Given the description of an element on the screen output the (x, y) to click on. 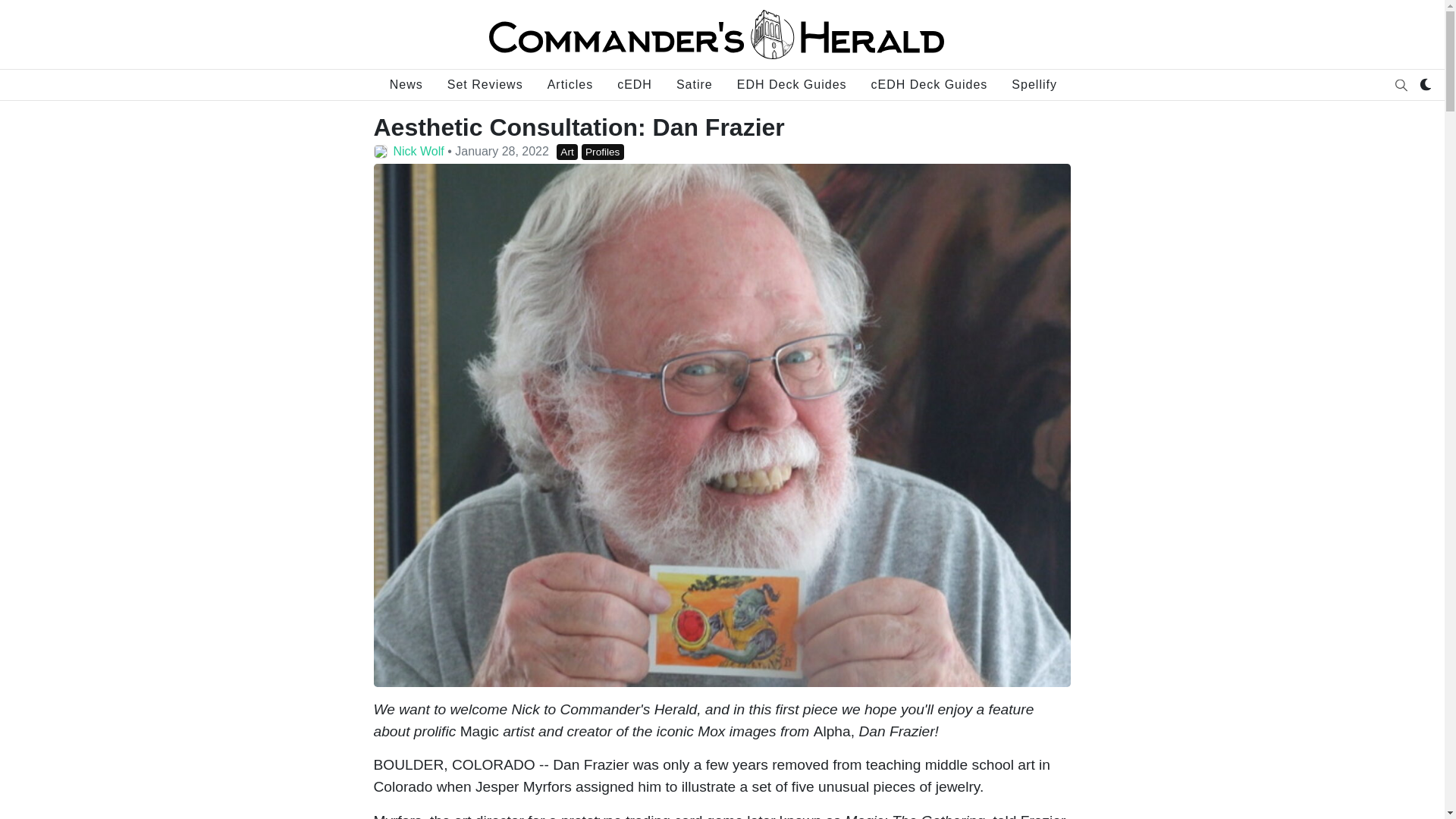
EDH Deck Guides (791, 85)
Articles (569, 85)
News (406, 85)
Set Reviews (484, 85)
cEDH (634, 85)
Spellify (1034, 85)
Nick Wolf (418, 151)
Art (567, 151)
Satire (695, 85)
cEDH Deck Guides (929, 85)
Profiles (602, 151)
